Given the description of an element on the screen output the (x, y) to click on. 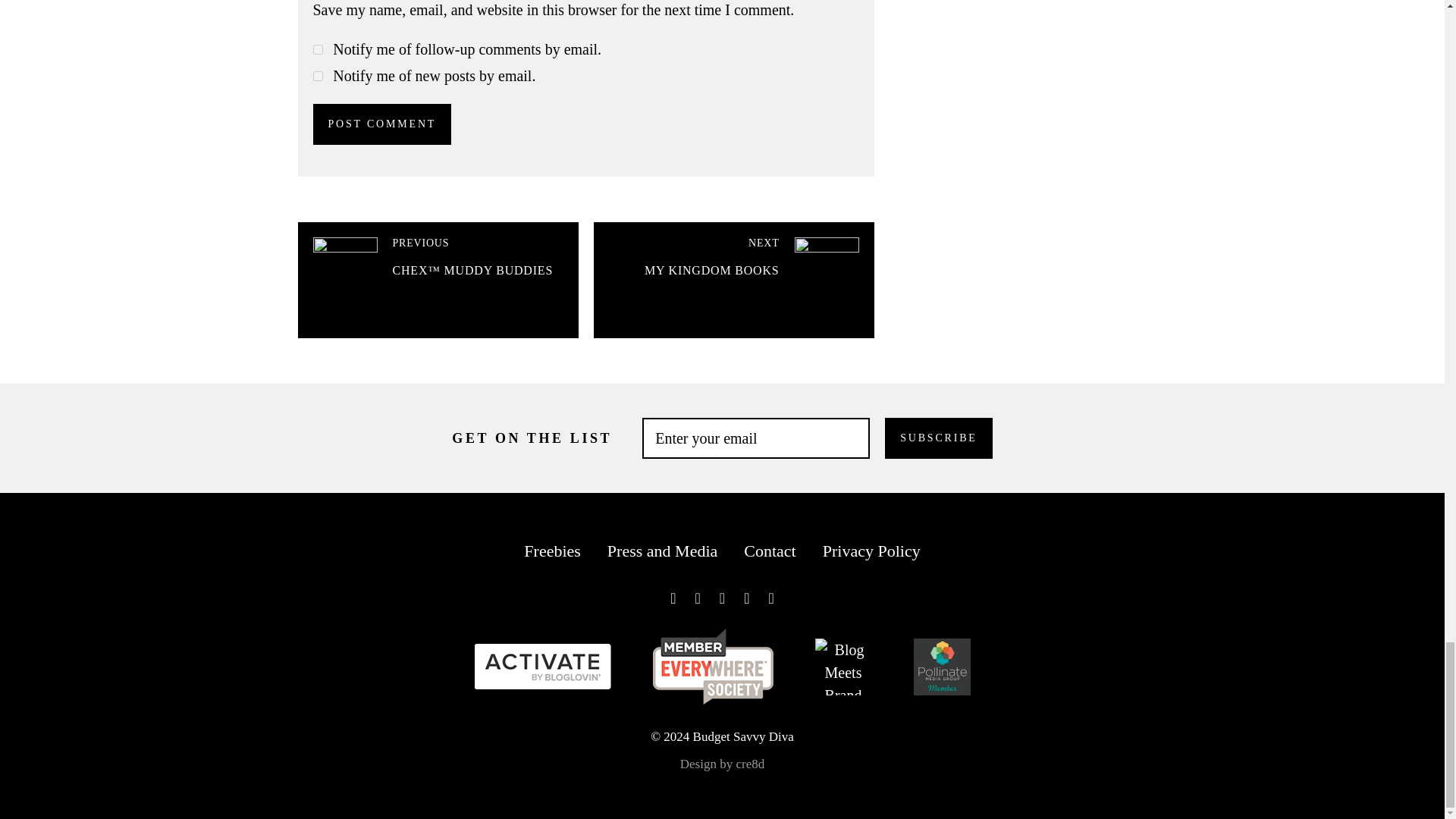
Post Comment (382, 124)
Subscribe (938, 437)
subscribe (317, 76)
subscribe (317, 49)
